Given the description of an element on the screen output the (x, y) to click on. 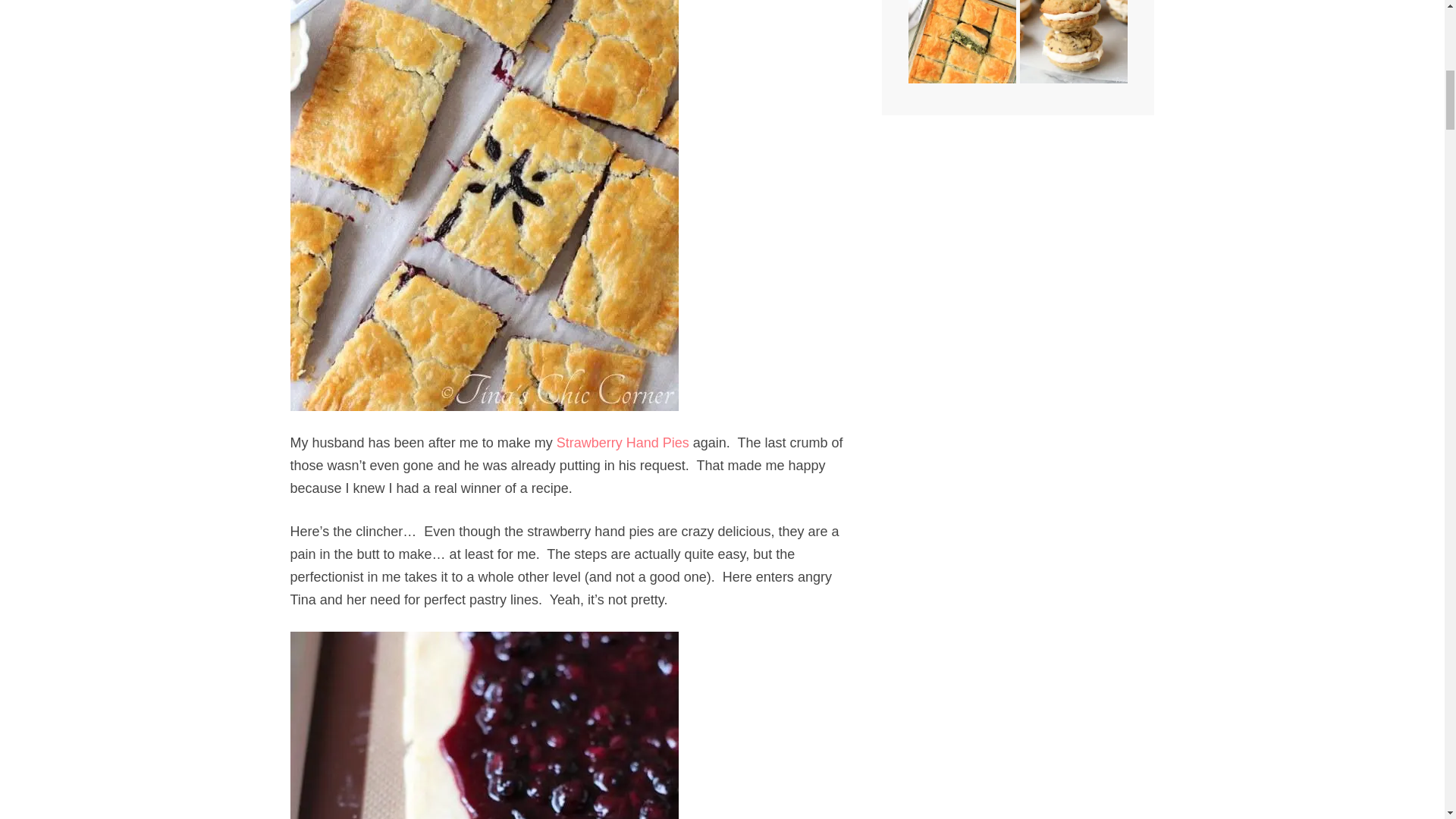
Chocolate Chip Cookie Whoopie Pies (1072, 41)
